Given the description of an element on the screen output the (x, y) to click on. 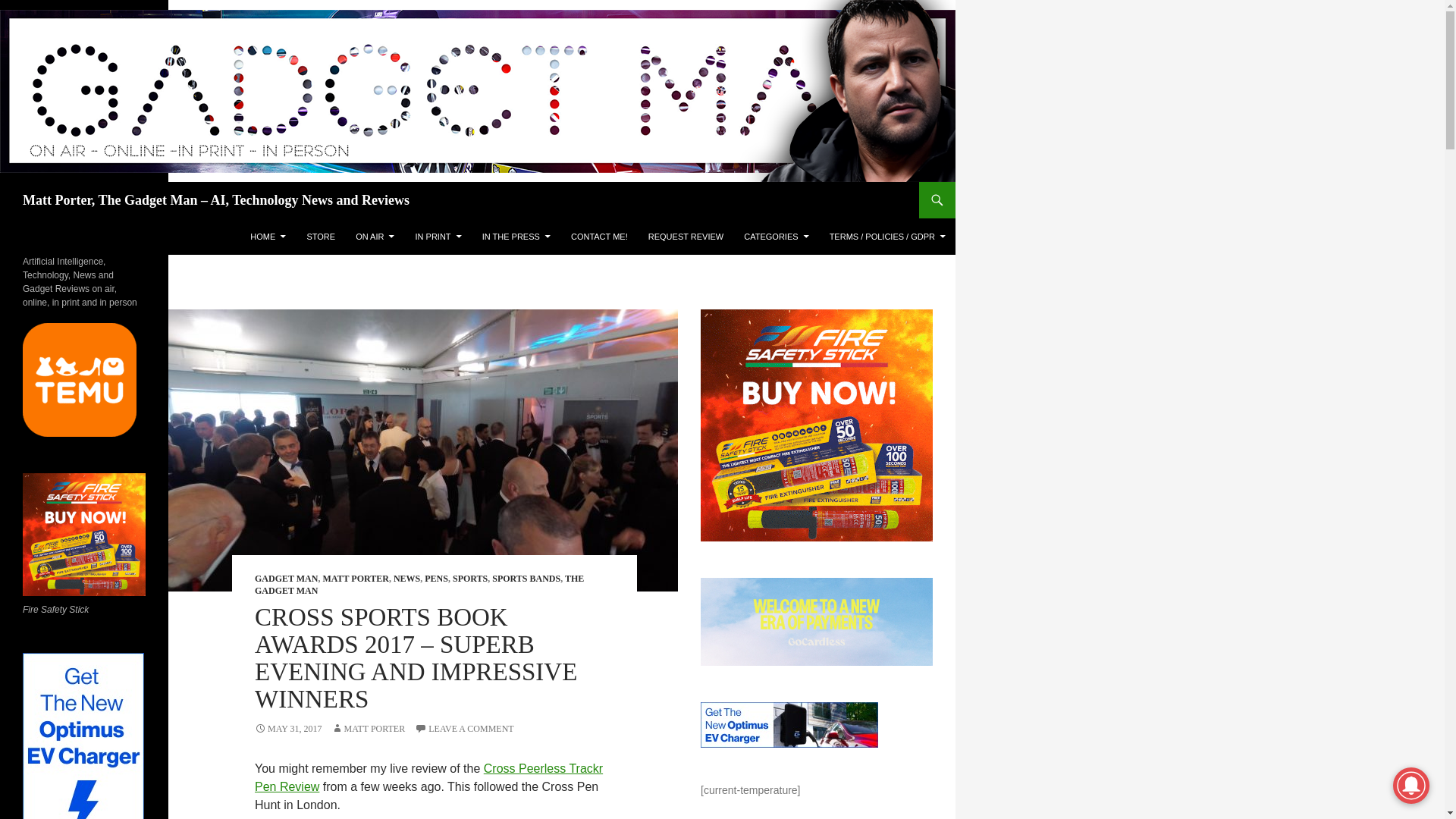
HOME (268, 236)
CONTACT ME! (599, 236)
GADGET MAN (285, 578)
IN PRINT (438, 236)
Fire Safety Stick (816, 425)
IN THE PRESS (516, 236)
ON AIR (374, 236)
GoCardless - The Easy Way to Collect Payments (816, 621)
REQUEST REVIEW (685, 236)
STORE (320, 236)
MATT PORTER (354, 578)
CATEGORIES (775, 236)
